Given the description of an element on the screen output the (x, y) to click on. 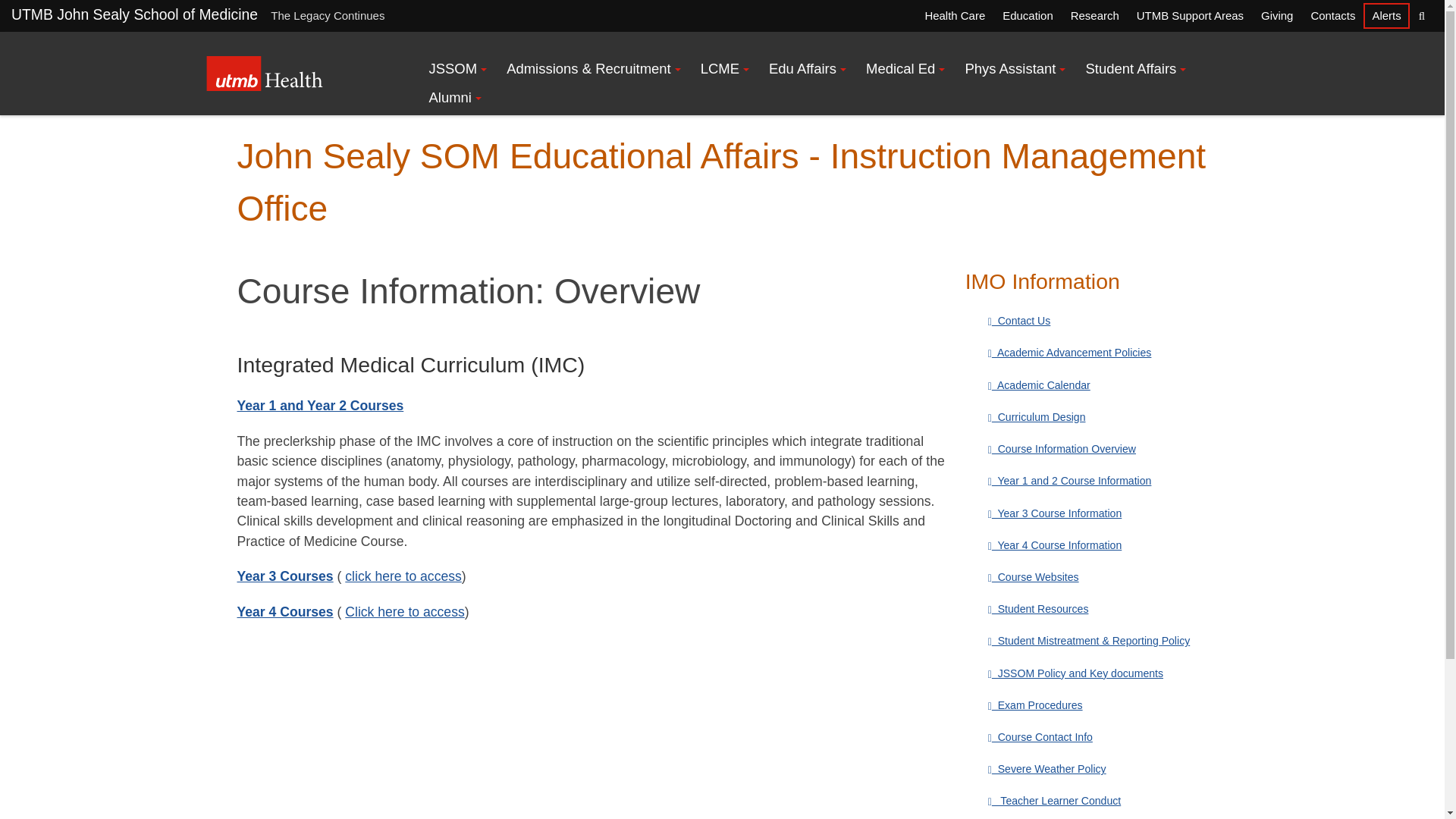
UTMB Support Areas (1189, 15)
Alerts (1385, 15)
Search (1420, 15)
UTMB Health (265, 73)
The University of Texas Medical Branch (265, 73)
Giving (1276, 15)
Education (1026, 15)
Contacts (1331, 15)
JSSOM (457, 68)
UTMB John Sealy School of Medicine (134, 14)
